Given the description of an element on the screen output the (x, y) to click on. 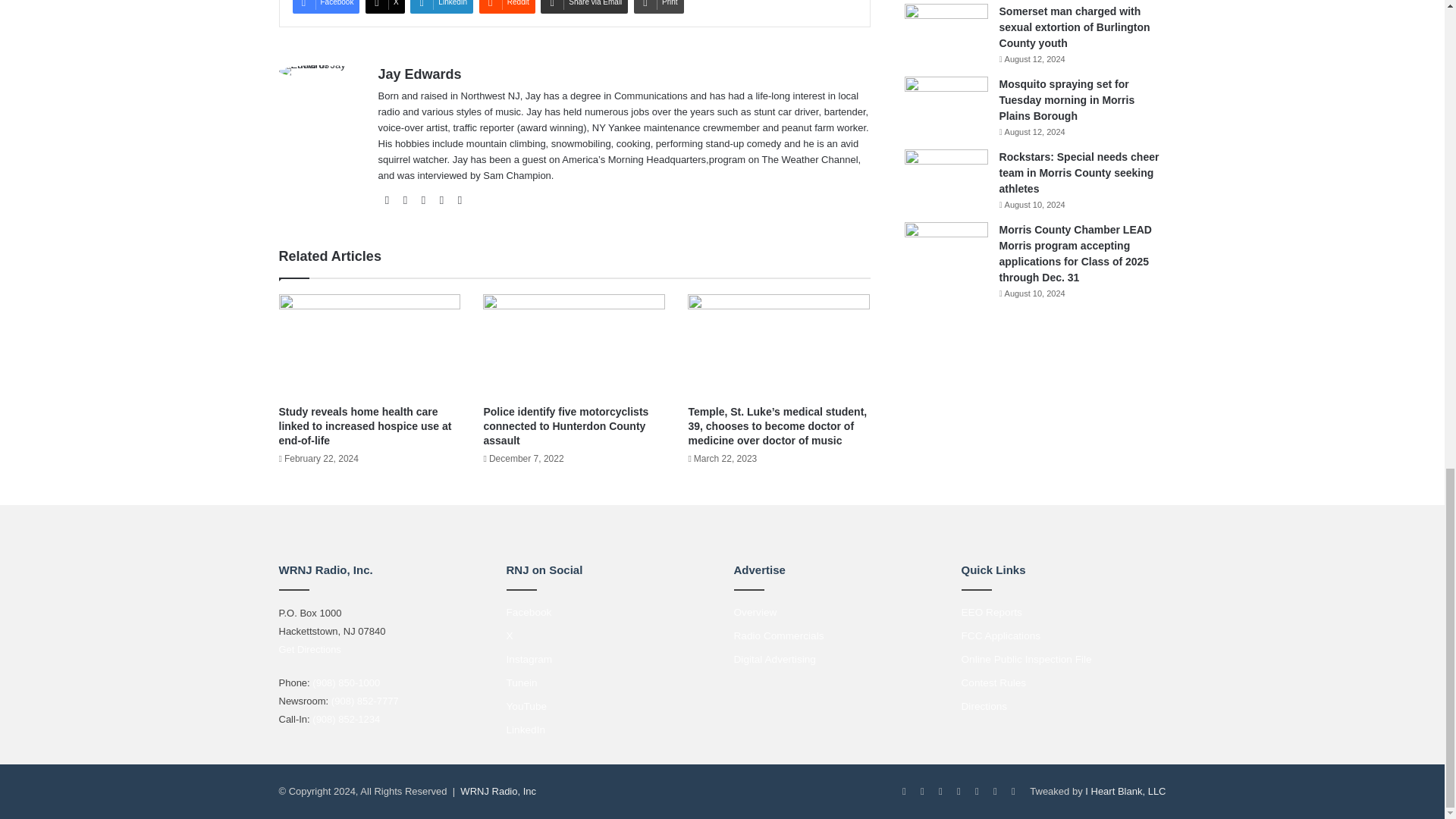
X (384, 6)
LinkedIn (441, 6)
Print (658, 6)
Share via Email (583, 6)
Reddit (507, 6)
Facebook (325, 6)
